Given the description of an element on the screen output the (x, y) to click on. 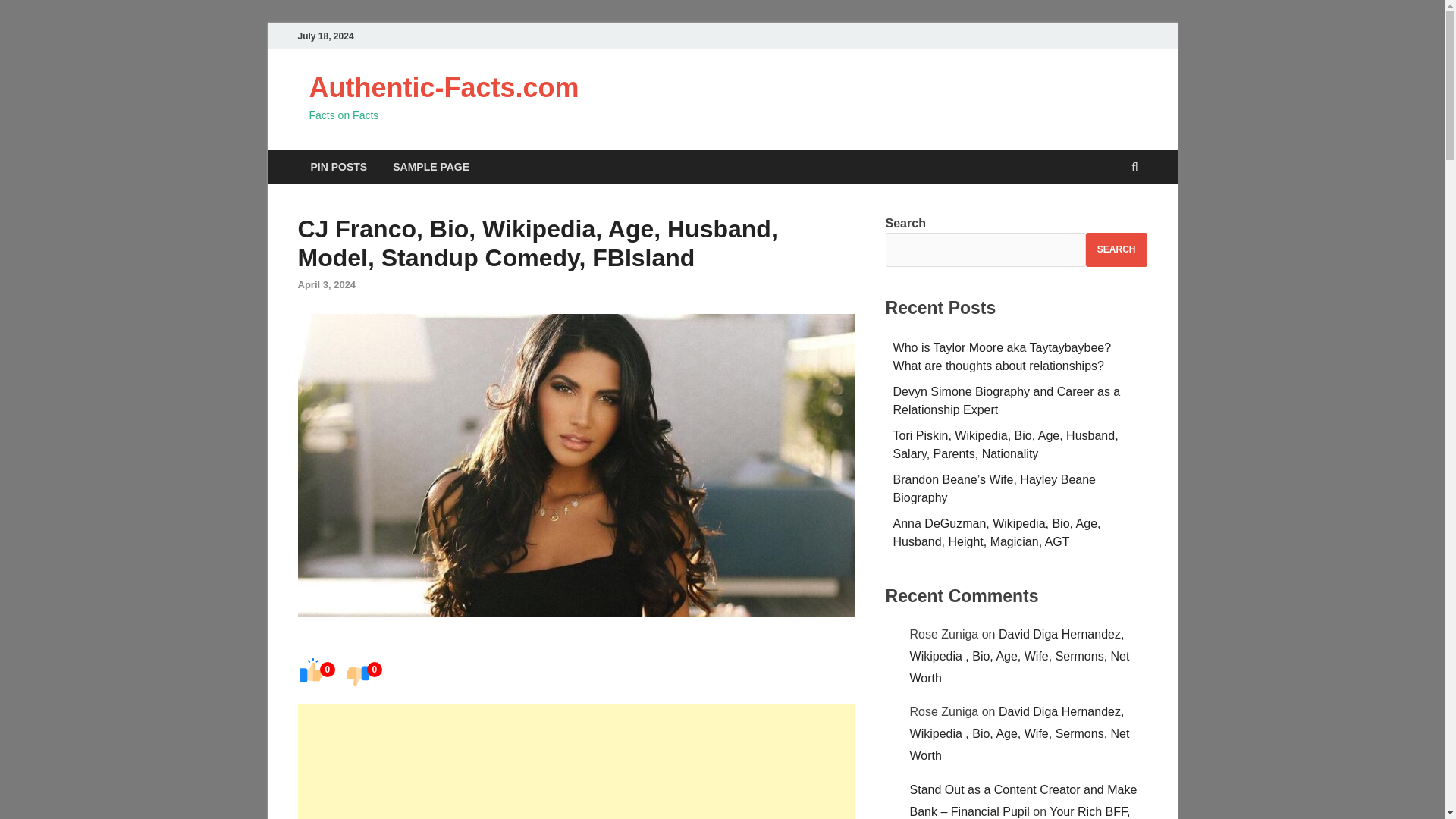
Devyn Simone Biography and Career as a Relationship Expert (1007, 400)
SEARCH (1116, 249)
SAMPLE PAGE (430, 166)
April 3, 2024 (326, 284)
Advertisement (575, 761)
Authentic-Facts.com (443, 87)
PIN POSTS (338, 166)
